Given the description of an element on the screen output the (x, y) to click on. 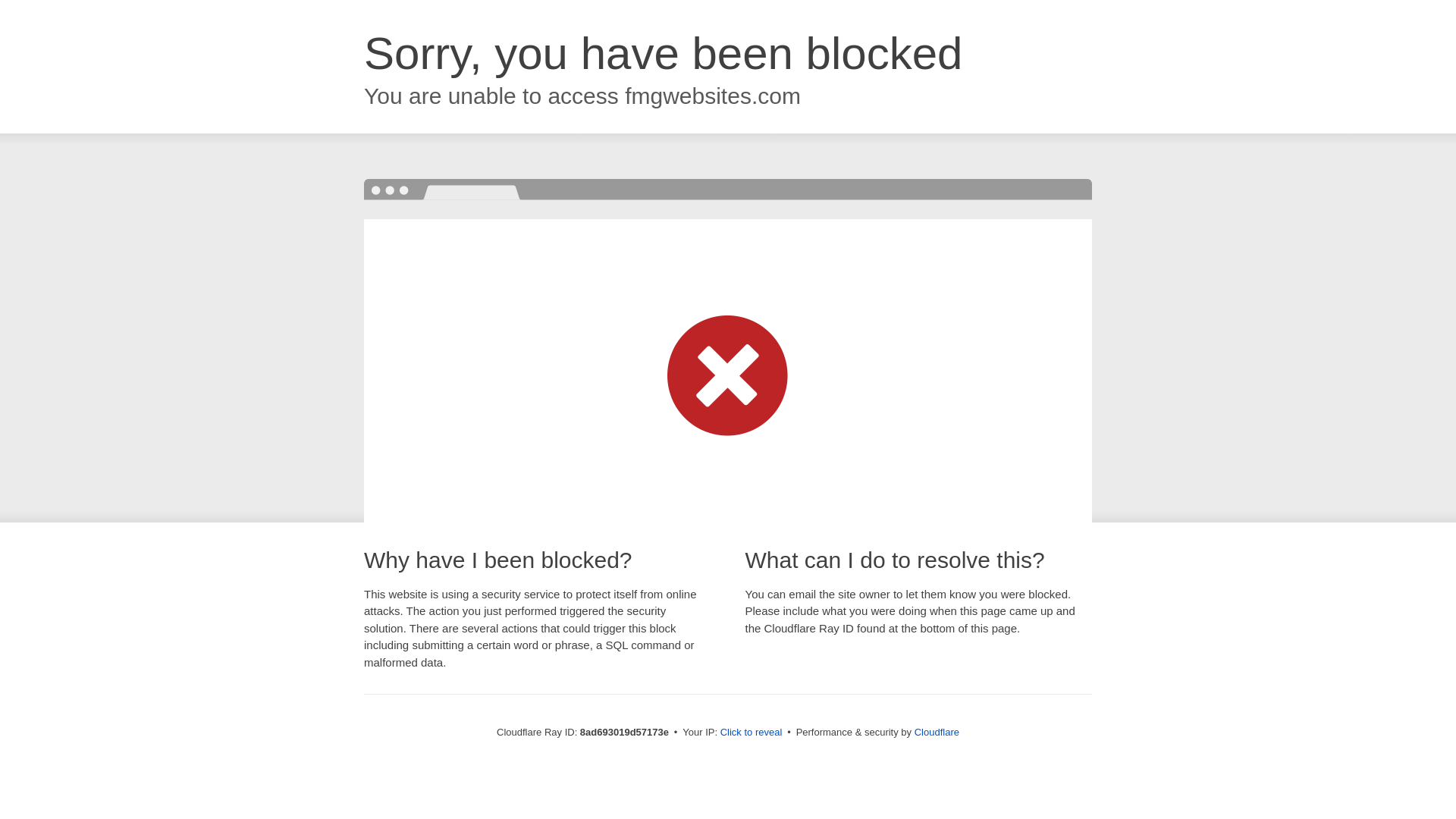
Click to reveal (751, 732)
Cloudflare (936, 731)
